Given the description of an element on the screen output the (x, y) to click on. 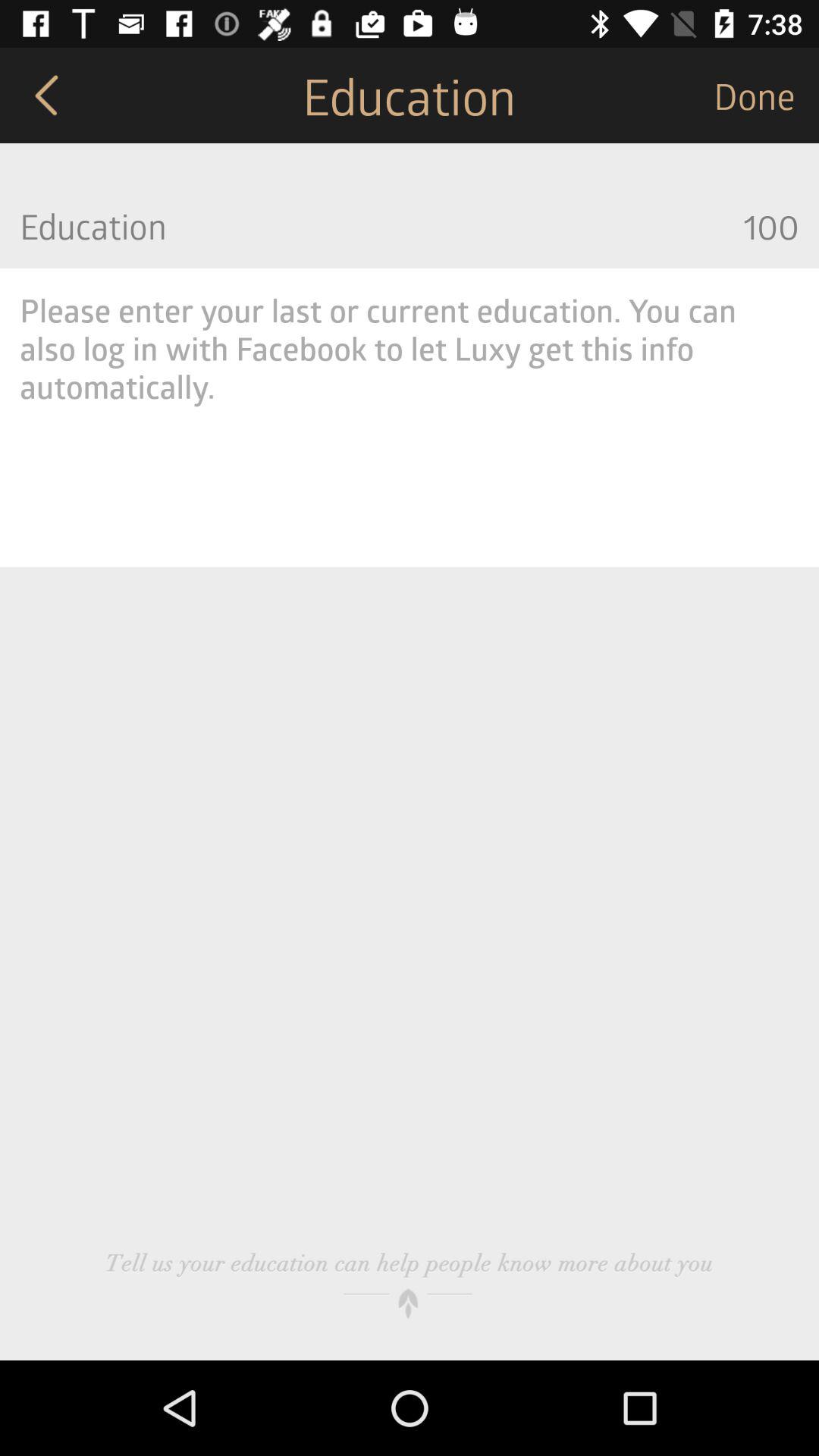
turn off done item (766, 95)
